Given the description of an element on the screen output the (x, y) to click on. 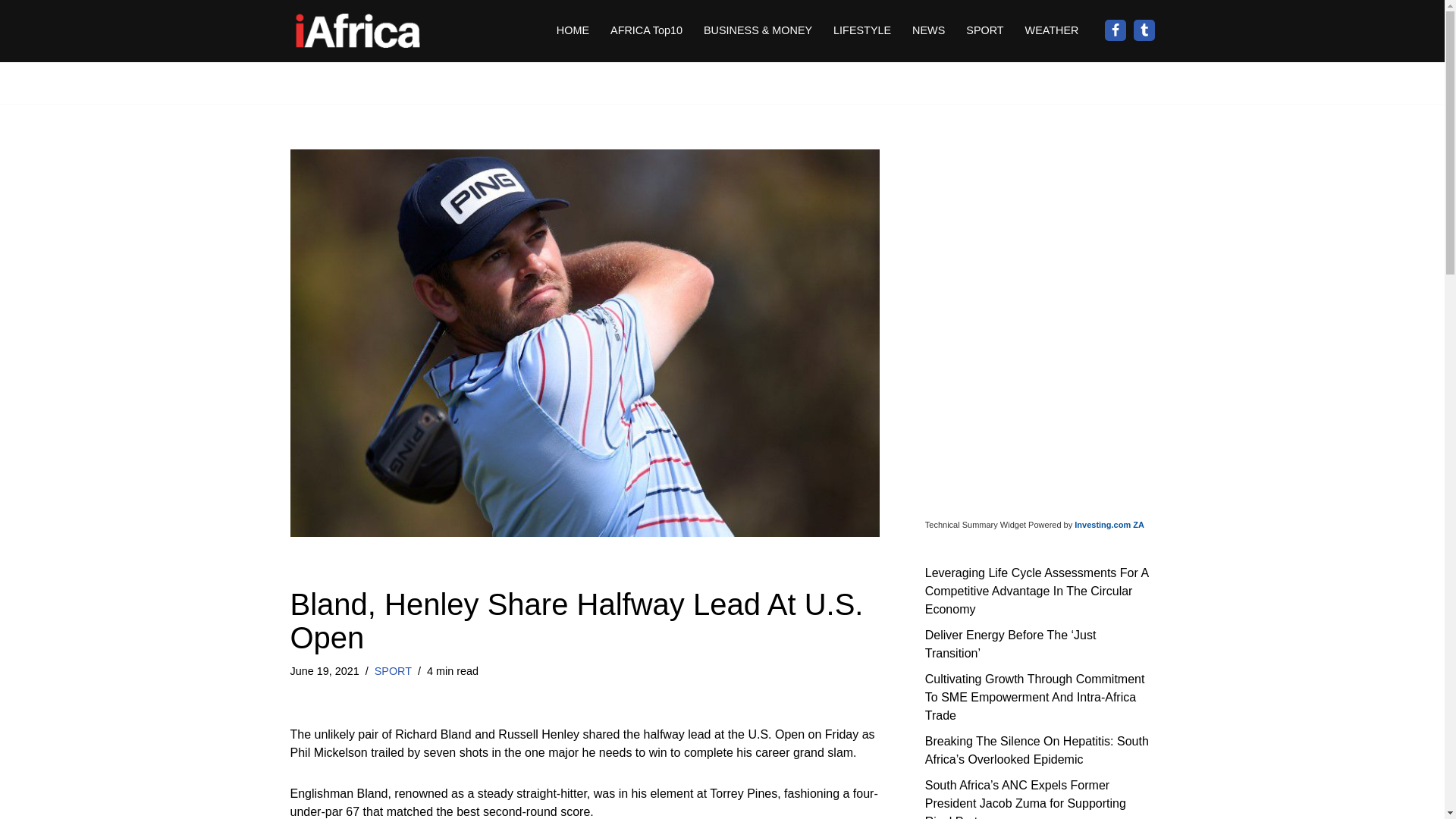
Skip to content (11, 31)
NEWS (928, 30)
Facebook (1114, 29)
HOME (572, 30)
SPORT (984, 30)
LIFESTYLE (861, 30)
Twitter (1143, 29)
WEATHER (1051, 30)
SPORT (393, 671)
AFRICA Top10 (646, 30)
Investing.com ZA (1109, 524)
